Given the description of an element on the screen output the (x, y) to click on. 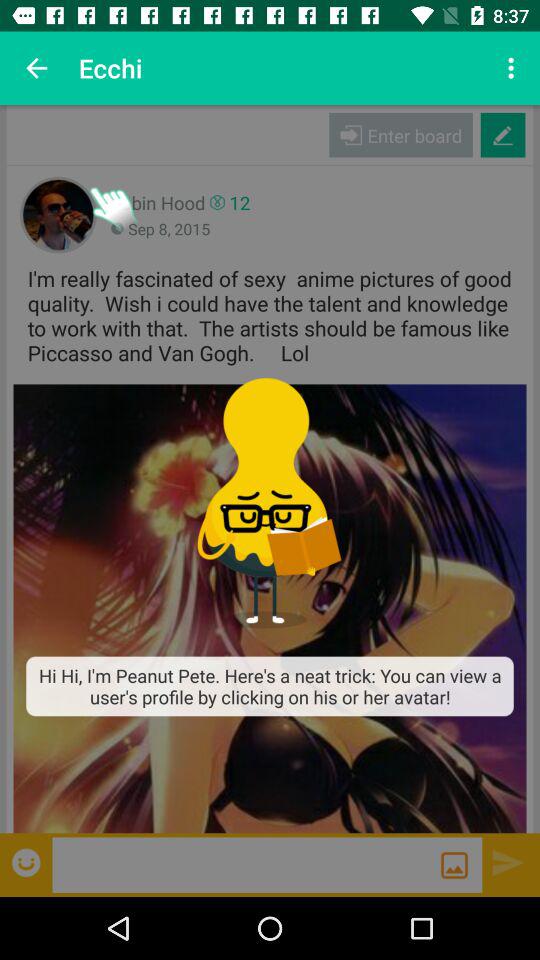
tap item to the left of the ecchi  app (36, 68)
